Given the description of an element on the screen output the (x, y) to click on. 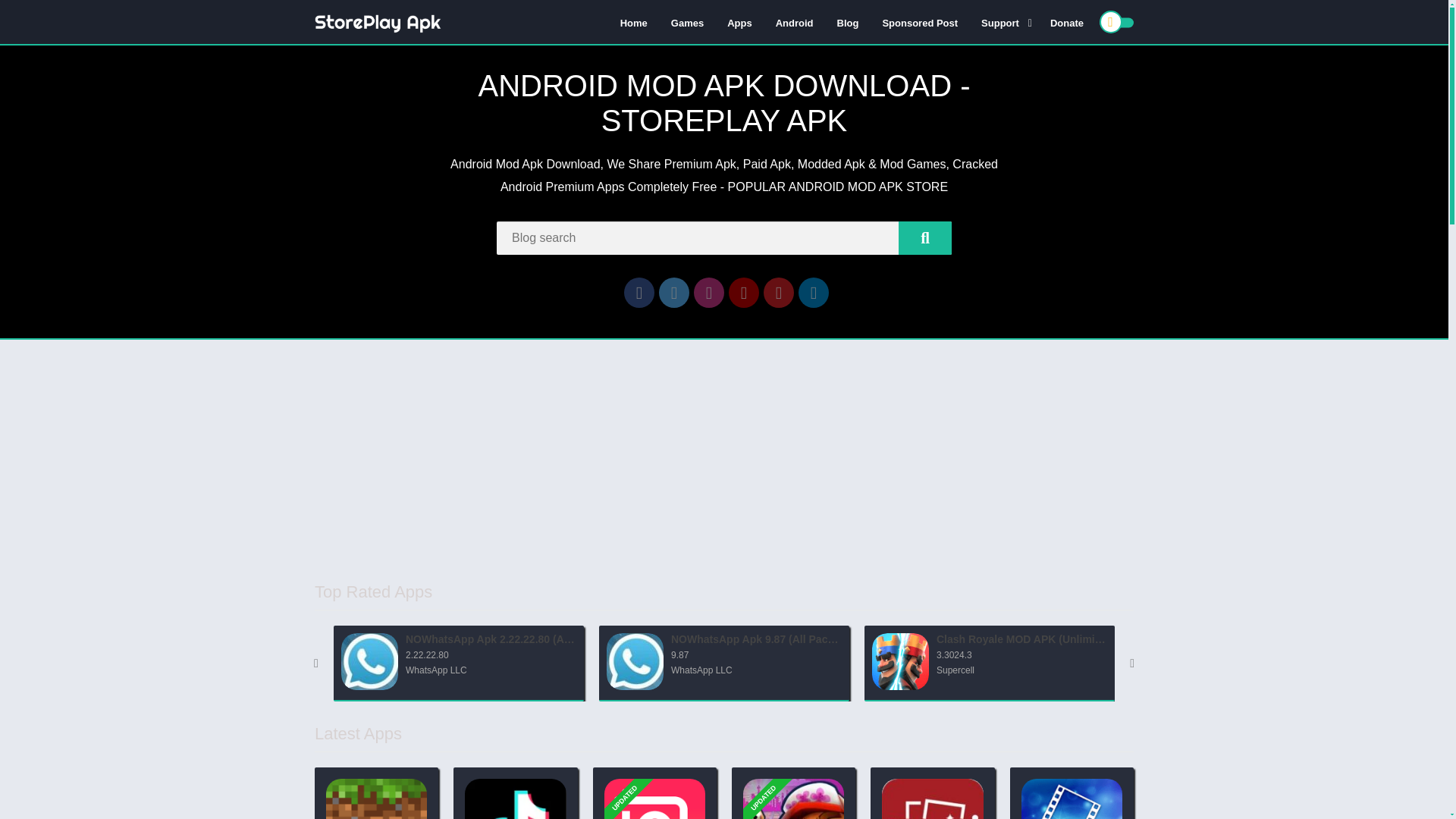
Pinterest (777, 292)
Twitter (673, 292)
Donate (1066, 22)
Blog search (925, 237)
Instagram (708, 292)
Sponsored Post (919, 22)
Subway Surfers Mod Apk (794, 793)
Telegram (812, 292)
Facebook (638, 292)
YouTube (743, 292)
Support (1003, 22)
Blog (847, 22)
Android (794, 22)
Updated (630, 772)
Home (633, 22)
